Given the description of an element on the screen output the (x, y) to click on. 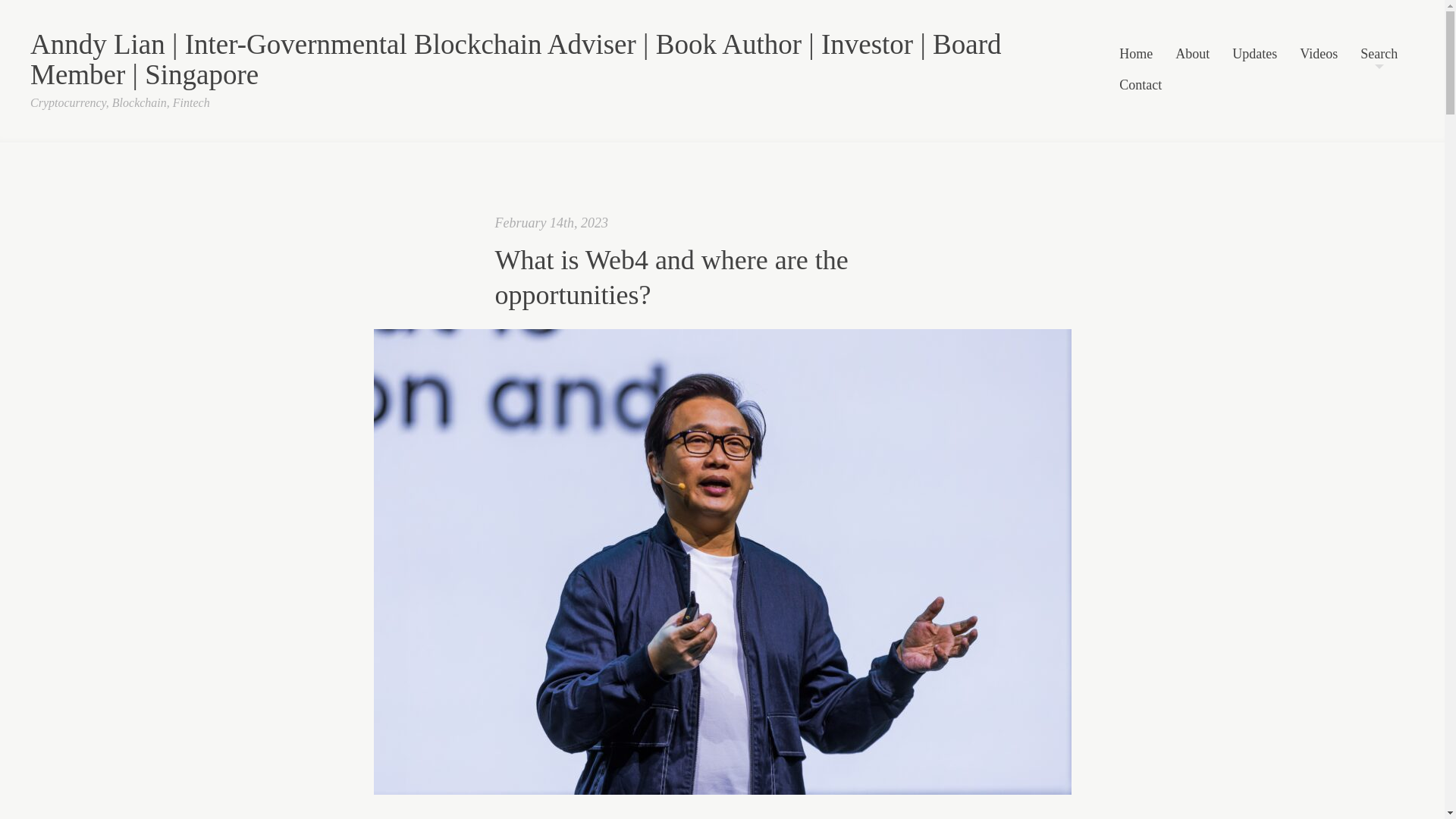
Videos (1319, 55)
4:30 pm (551, 222)
February 14th, 2023 (551, 222)
Contact (1140, 86)
Home (1136, 55)
Updates (1253, 55)
Search (1378, 55)
About (1191, 55)
